Given the description of an element on the screen output the (x, y) to click on. 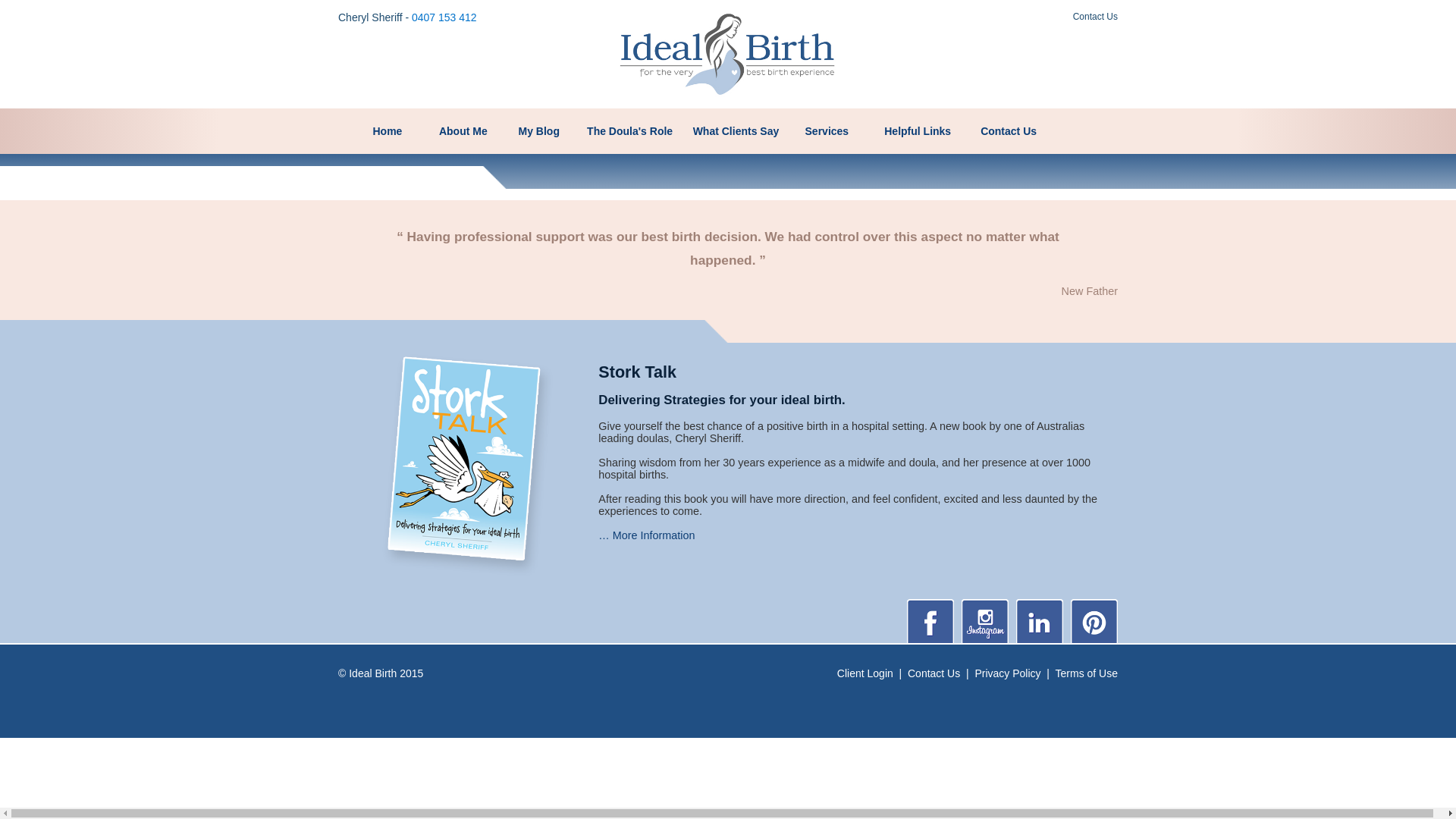
About Me Element type: text (463, 130)
Privacy Policy Element type: text (1007, 673)
Client Login Element type: text (865, 673)
Contact Us Element type: text (1008, 130)
Services Element type: text (826, 130)
Contact Us Element type: text (1095, 16)
What Clients Say Element type: text (736, 130)
Terms of Use Element type: text (1086, 673)
Helpful Links Element type: text (917, 130)
My Blog Element type: text (539, 130)
Home Element type: text (387, 130)
Contact Us Element type: text (933, 673)
The Doula's Role Element type: text (630, 130)
